Given the description of an element on the screen output the (x, y) to click on. 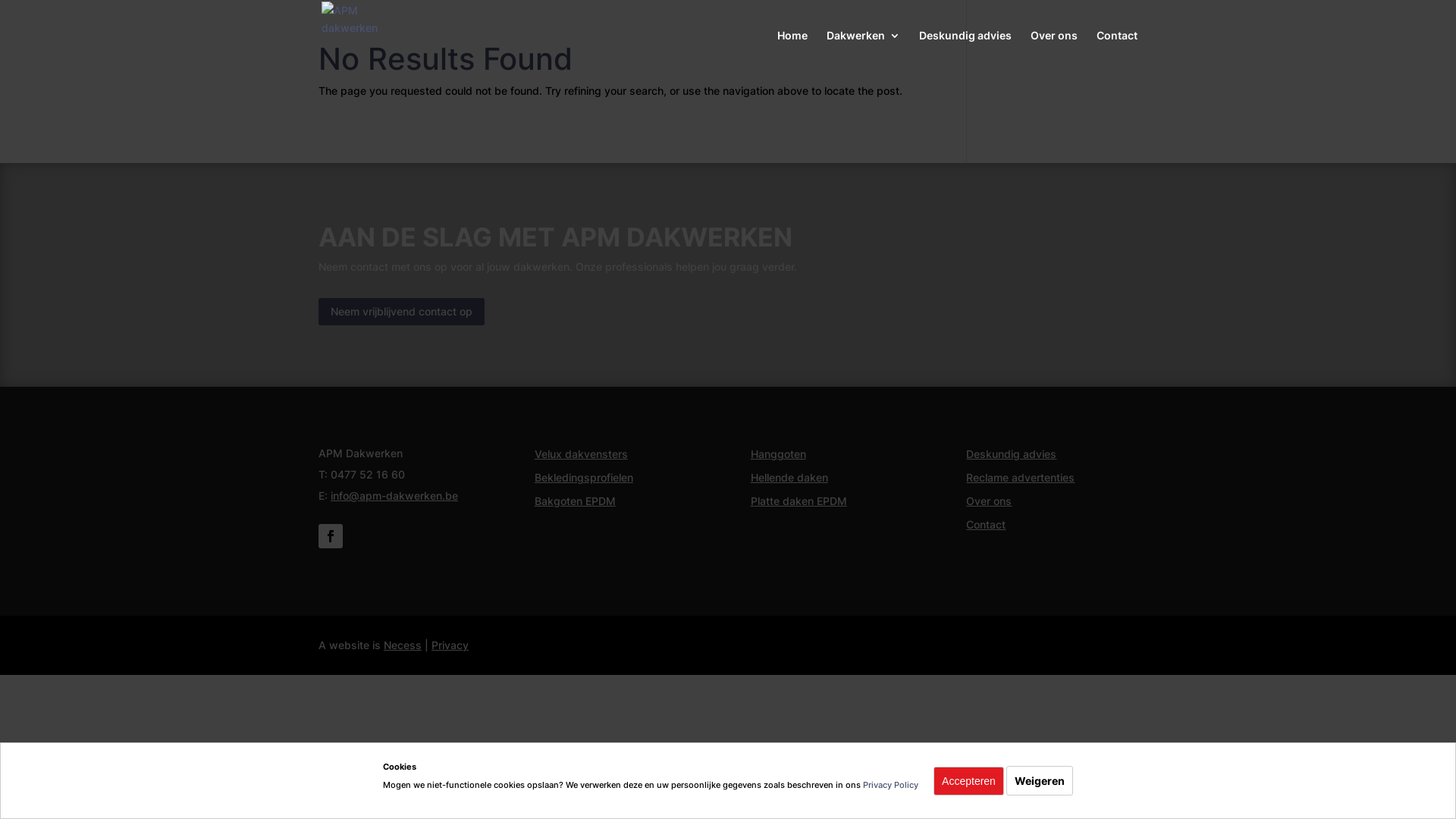
Privacy Policy Element type: text (890, 784)
Over ons Element type: text (988, 500)
Deskundig advies Element type: text (965, 50)
info@apm-dakwerken.be Element type: text (394, 495)
Accepteren Element type: text (968, 780)
Home Element type: text (792, 50)
Hanggoten Element type: text (778, 453)
Privacy Element type: text (449, 644)
Platte daken EPDM Element type: text (798, 500)
Weigeren Element type: text (1039, 780)
Velux dakvensters Element type: text (580, 453)
Reclame advertenties Element type: text (1020, 476)
Neem vrijblijvend contact op Element type: text (401, 311)
Bekledingsprofielen Element type: text (583, 476)
Deskundig advies Element type: text (1011, 453)
Contact Element type: text (1116, 50)
Contact Element type: text (985, 523)
Necess Element type: text (402, 644)
Hellende daken Element type: text (789, 476)
Follow on Facebook Element type: hover (330, 536)
Bakgoten EPDM Element type: text (574, 500)
Dakwerken Element type: text (863, 50)
Over ons Element type: text (1053, 50)
